Given the description of an element on the screen output the (x, y) to click on. 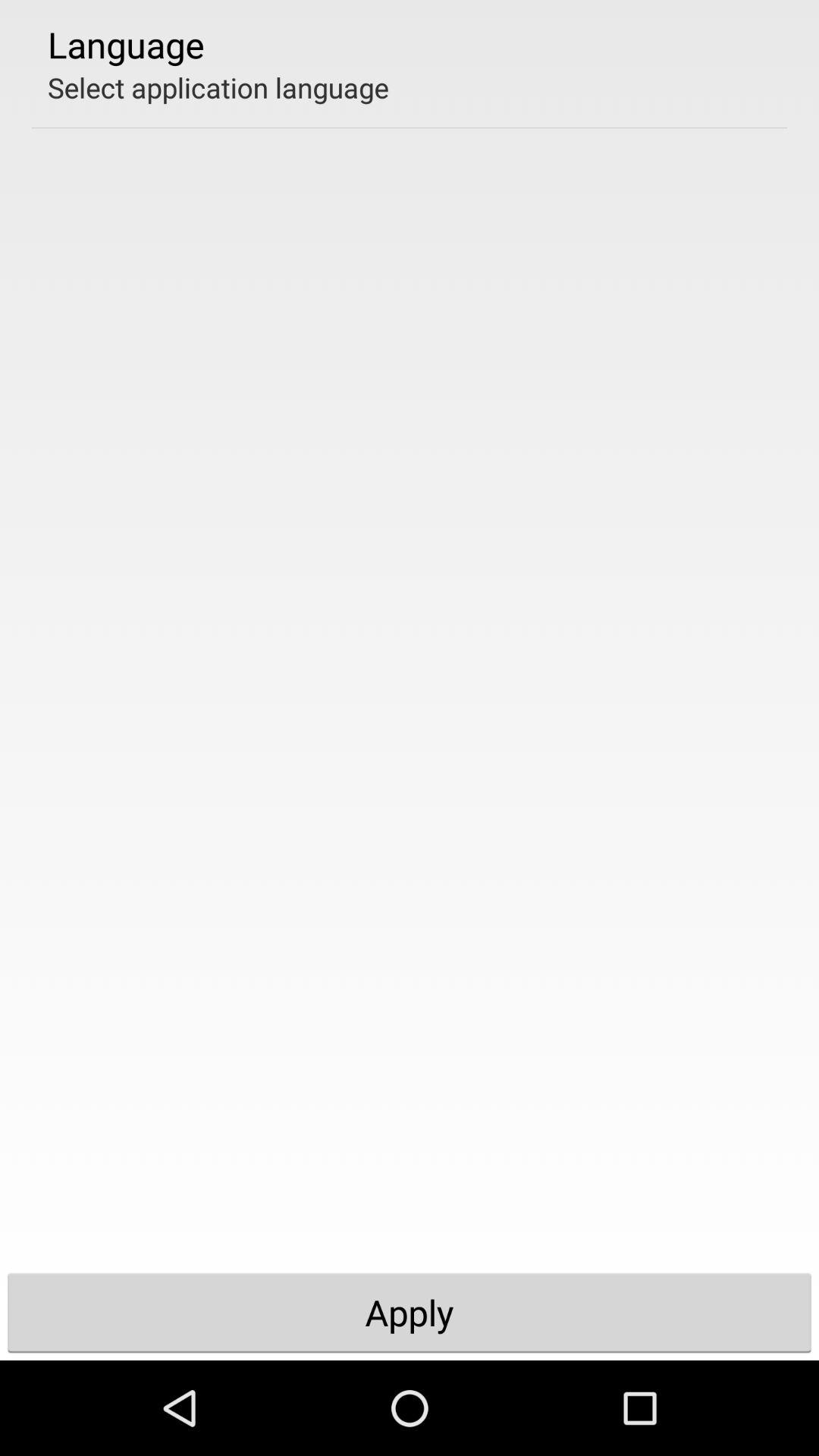
launch the icon below language (218, 87)
